Given the description of an element on the screen output the (x, y) to click on. 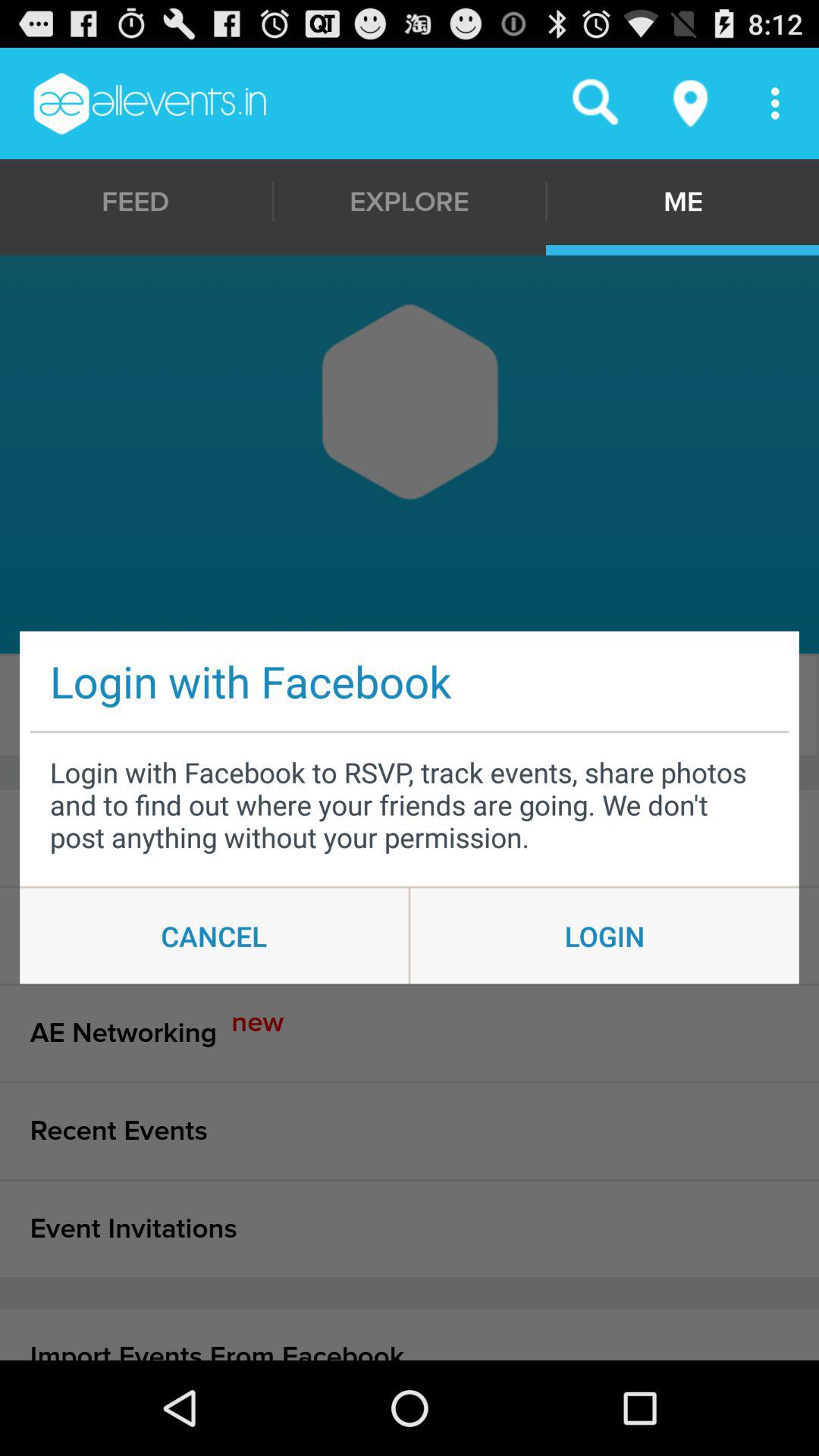
press recent events item (409, 1131)
